Given the description of an element on the screen output the (x, y) to click on. 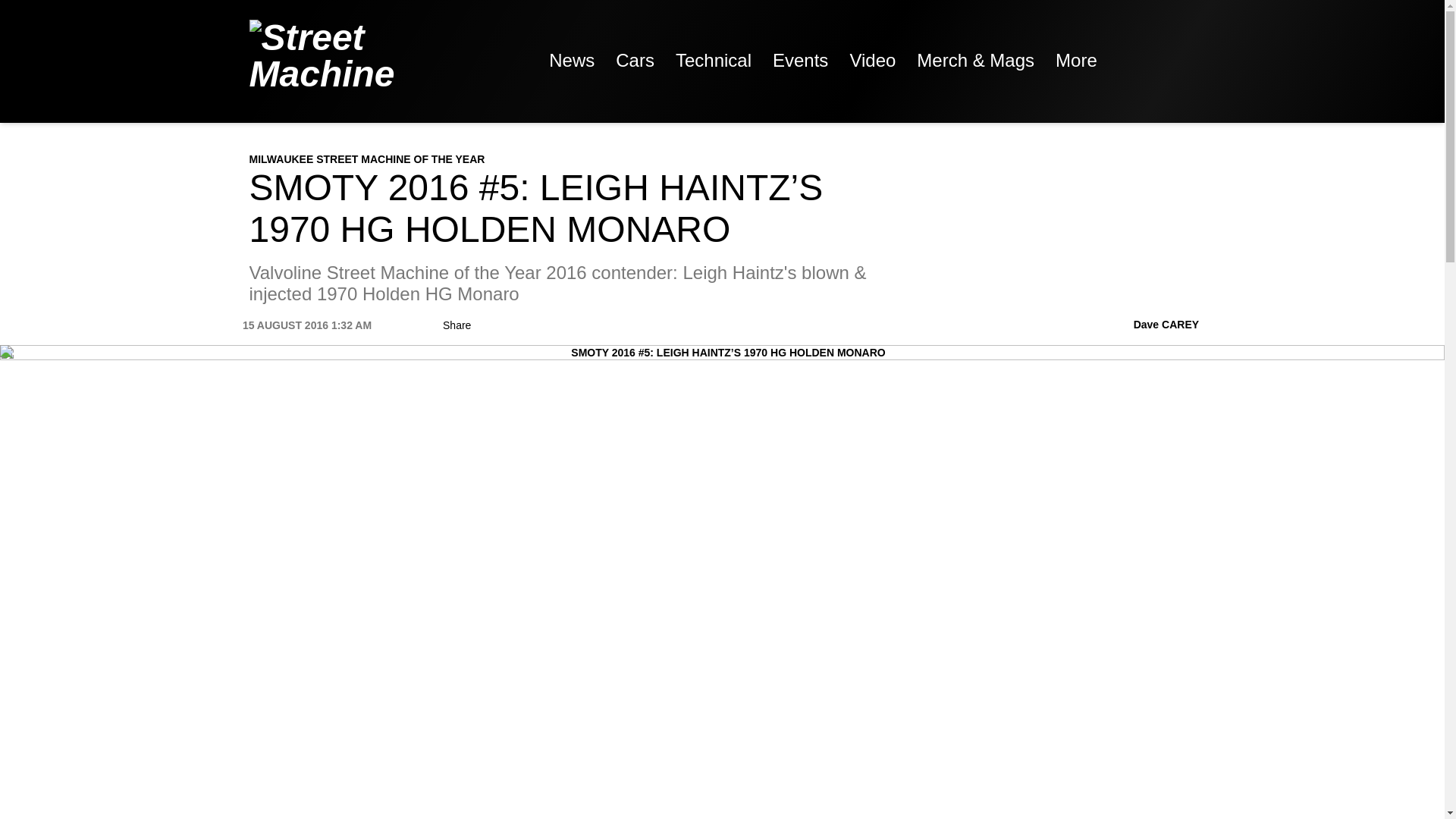
Events (799, 61)
Cars (635, 61)
Technical (713, 61)
News (571, 61)
Video (871, 61)
